Given the description of an element on the screen output the (x, y) to click on. 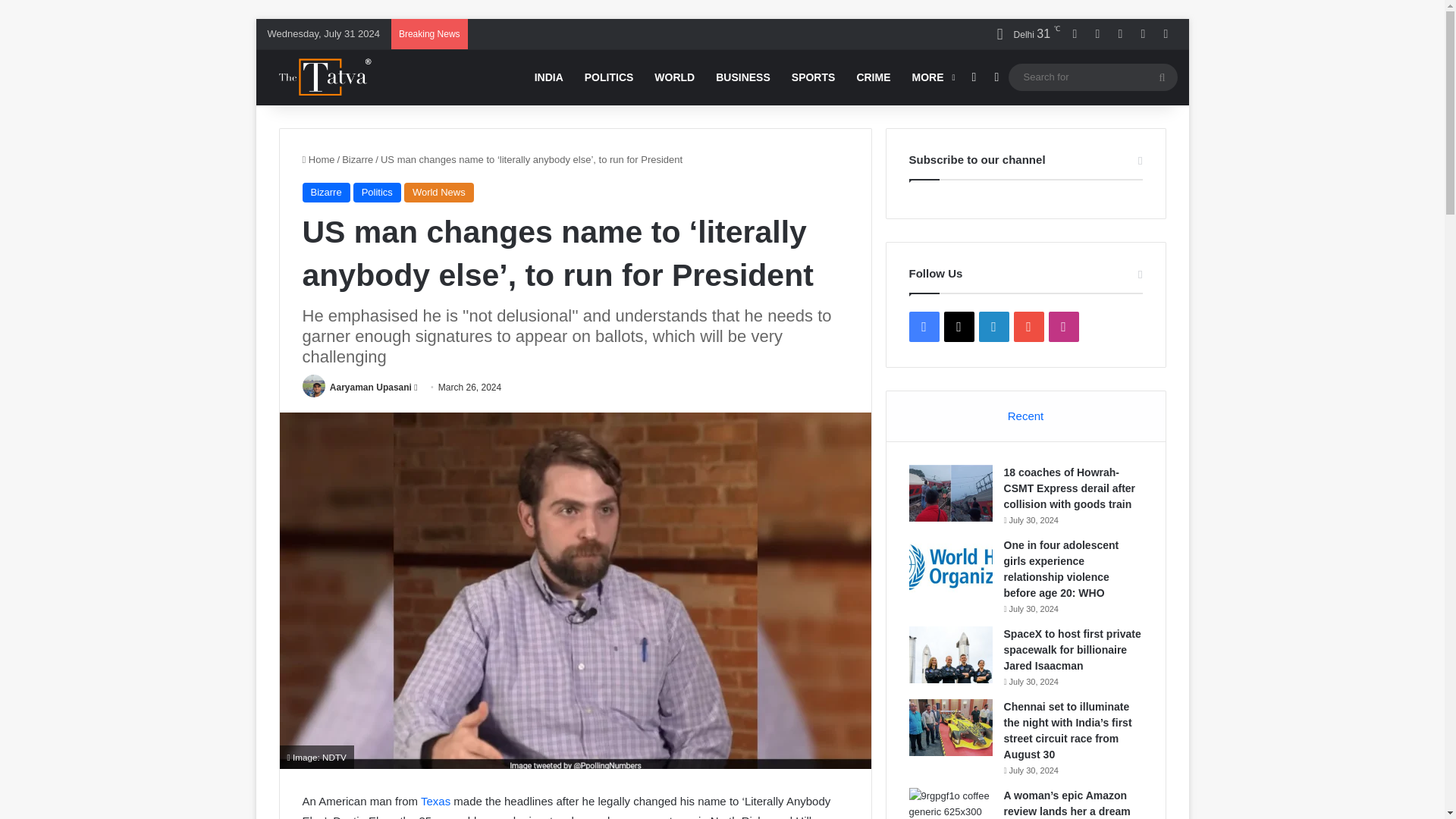
BUSINESS (742, 77)
Mist (1023, 33)
WORLD (673, 77)
Bizarre (325, 192)
MORE (931, 77)
POLITICS (609, 77)
Search for (1161, 76)
Aaryaman Upasani (371, 387)
The Tatva (320, 76)
SPORTS (812, 77)
Politics (377, 192)
CRIME (873, 77)
Home (317, 159)
Search for (1093, 76)
